Given the description of an element on the screen output the (x, y) to click on. 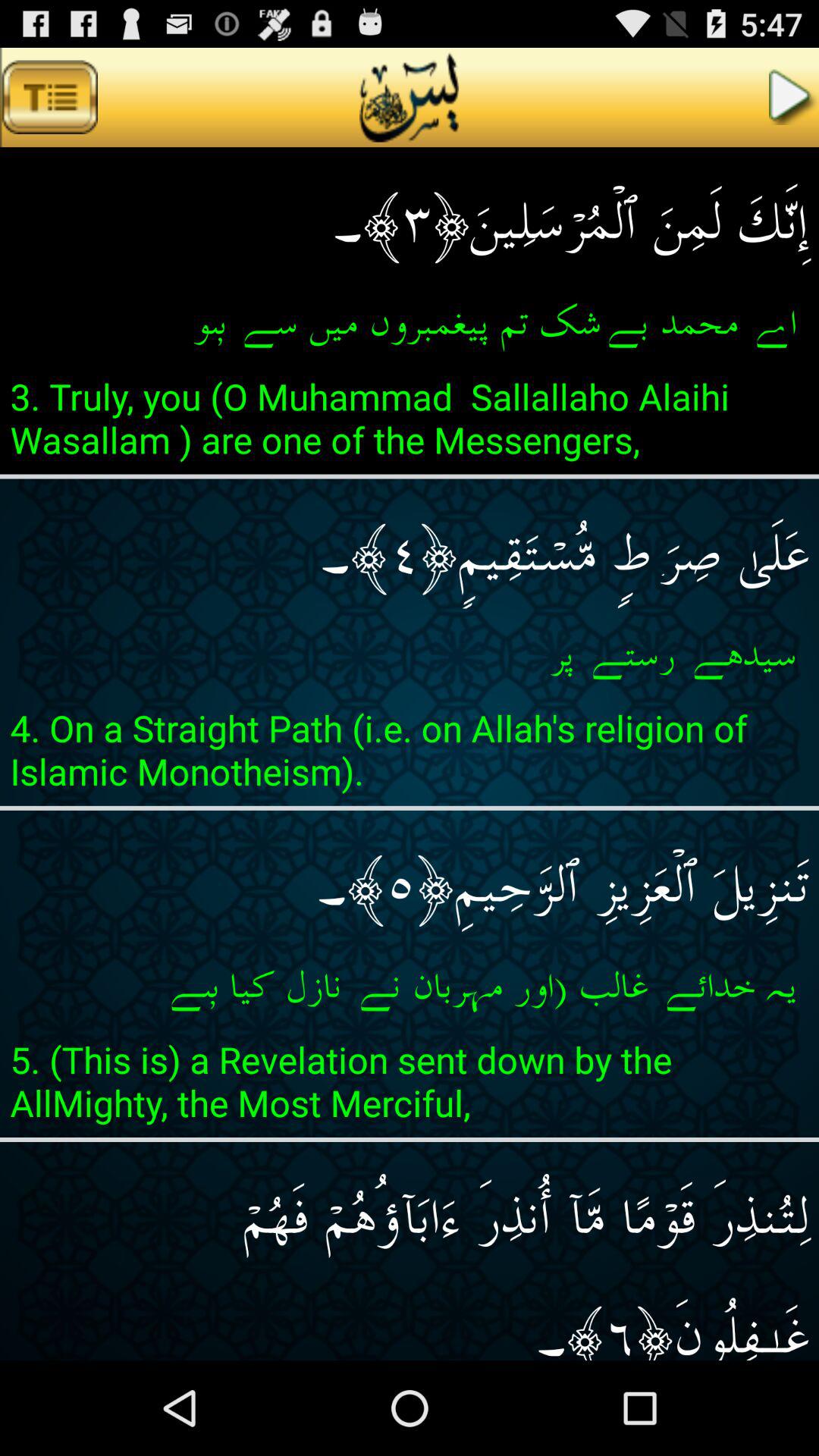
swipe until 5 this is (409, 1085)
